Given the description of an element on the screen output the (x, y) to click on. 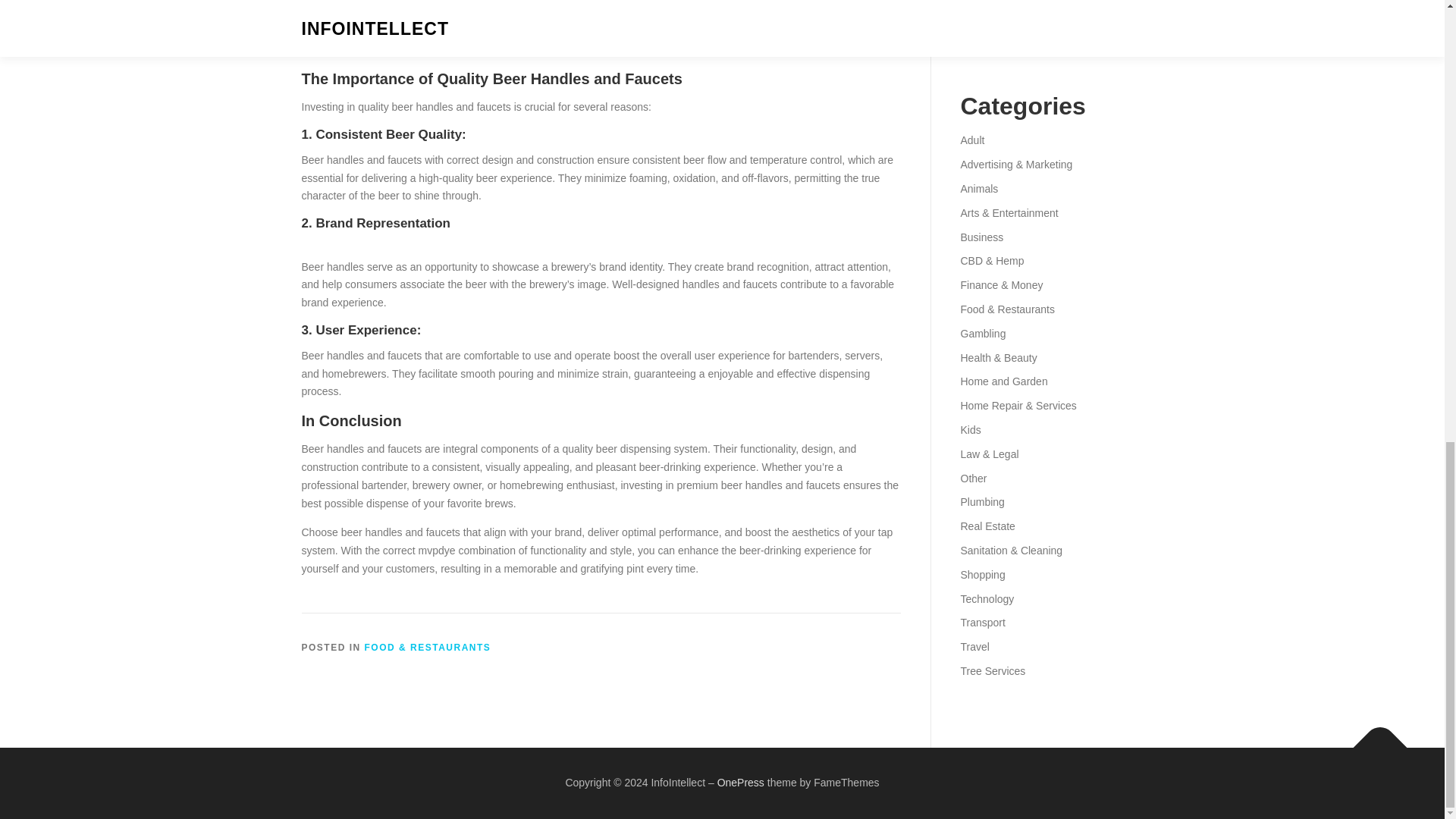
Animals (978, 188)
April 2023 (983, 45)
May 2023 (982, 21)
Back To Top (1372, 739)
June 2023 (984, 2)
Adult (971, 140)
Business (981, 236)
